Given the description of an element on the screen output the (x, y) to click on. 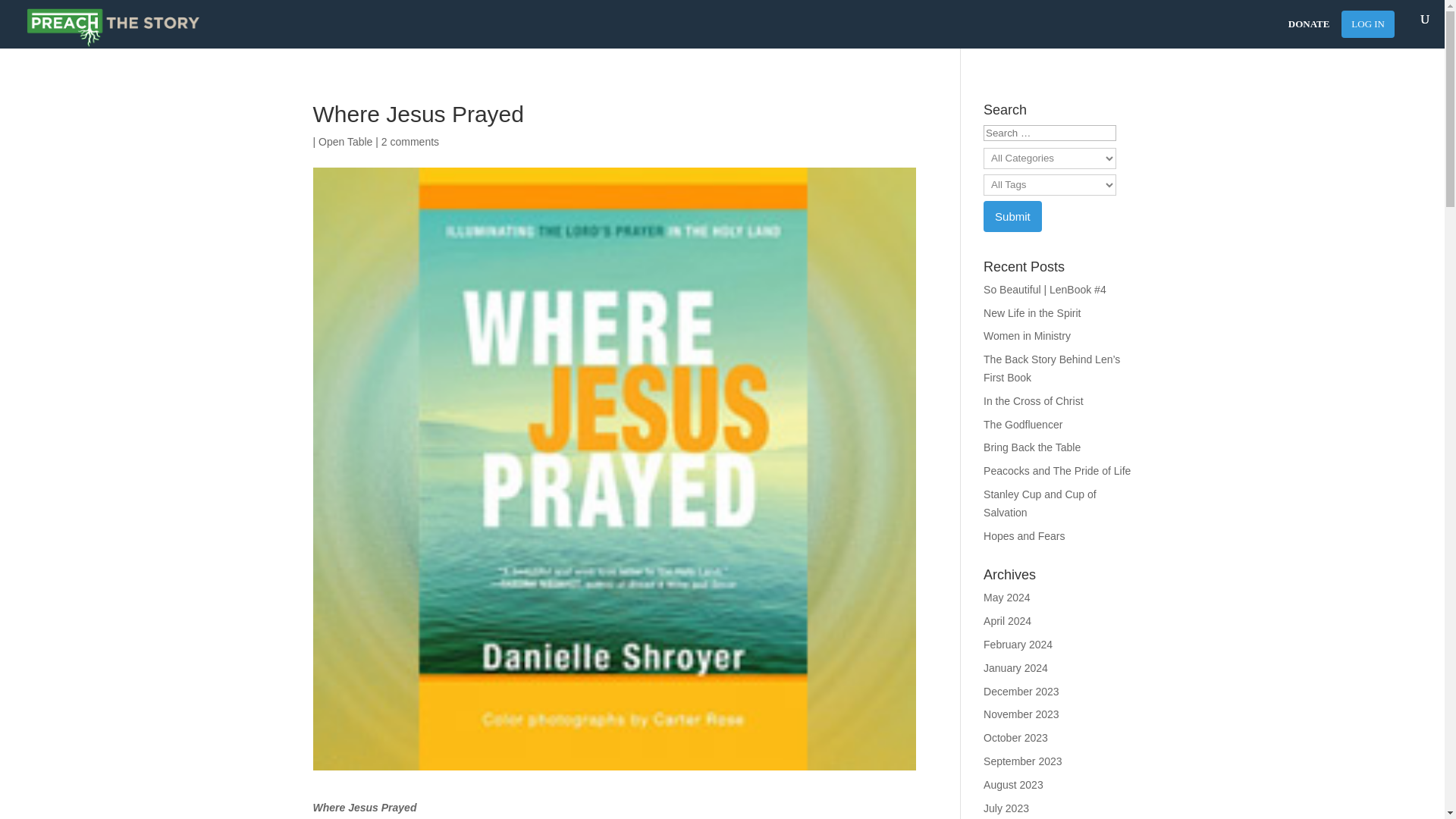
LOG IN (1367, 23)
Bring Back the Table (1032, 447)
October 2023 (1016, 737)
December 2023 (1021, 691)
Stanley Cup and Cup of Salvation (1040, 503)
November 2023 (1021, 714)
In the Cross of Christ (1033, 400)
August 2023 (1013, 784)
Peacocks and The Pride of Life (1057, 470)
DONATE (1309, 36)
New Life in the Spirit (1032, 313)
Log In (1367, 23)
Women in Ministry (1027, 336)
September 2023 (1023, 761)
May 2024 (1006, 597)
